Given the description of an element on the screen output the (x, y) to click on. 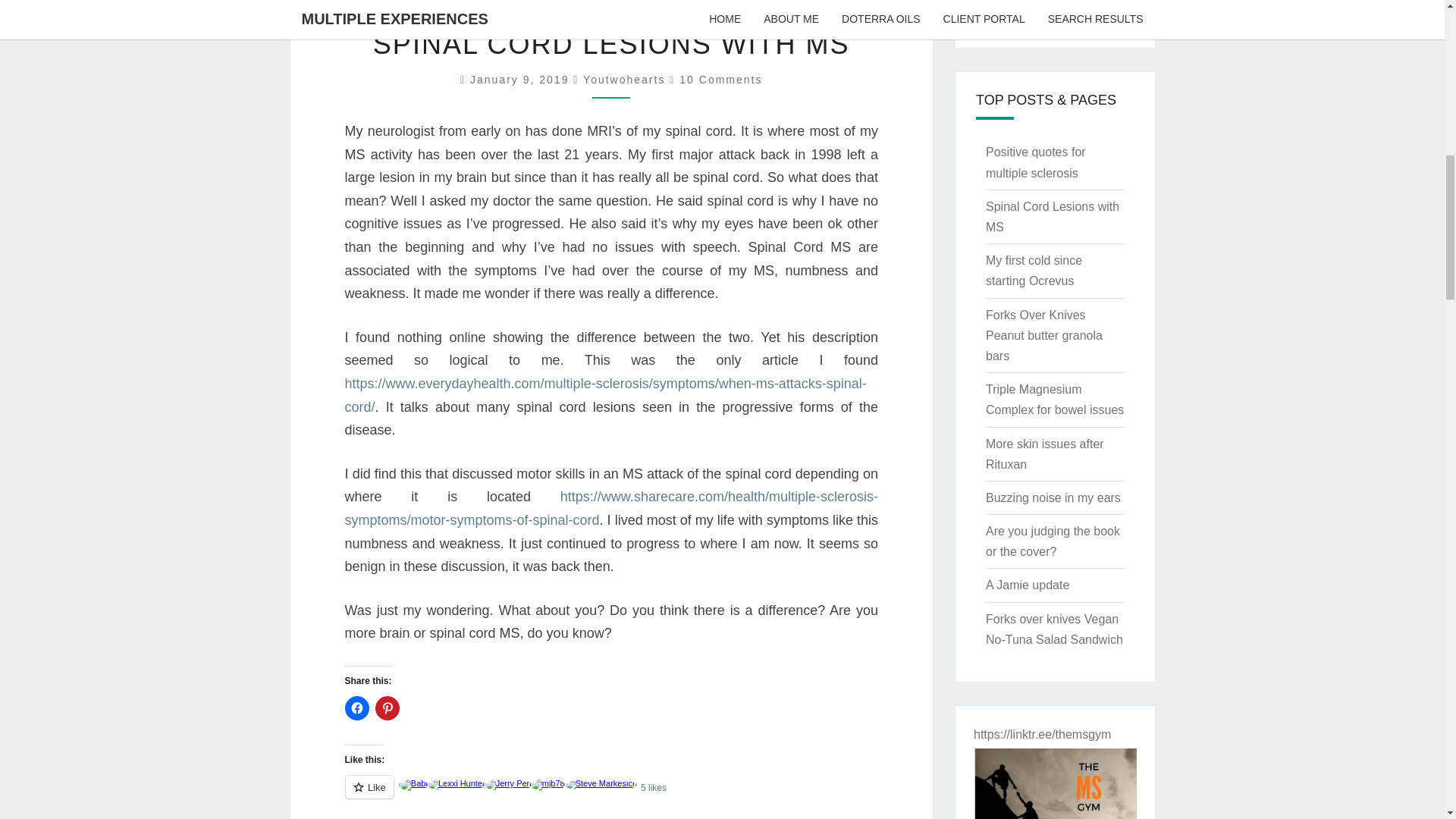
View all posts by Youtwohearts (624, 79)
Click to share on Facebook (355, 708)
11:03 am (521, 79)
10 Comments (720, 79)
Click to share on Pinterest (386, 708)
Youtwohearts (624, 79)
Like or Reblog (610, 795)
January 9, 2019 (521, 79)
